Given the description of an element on the screen output the (x, y) to click on. 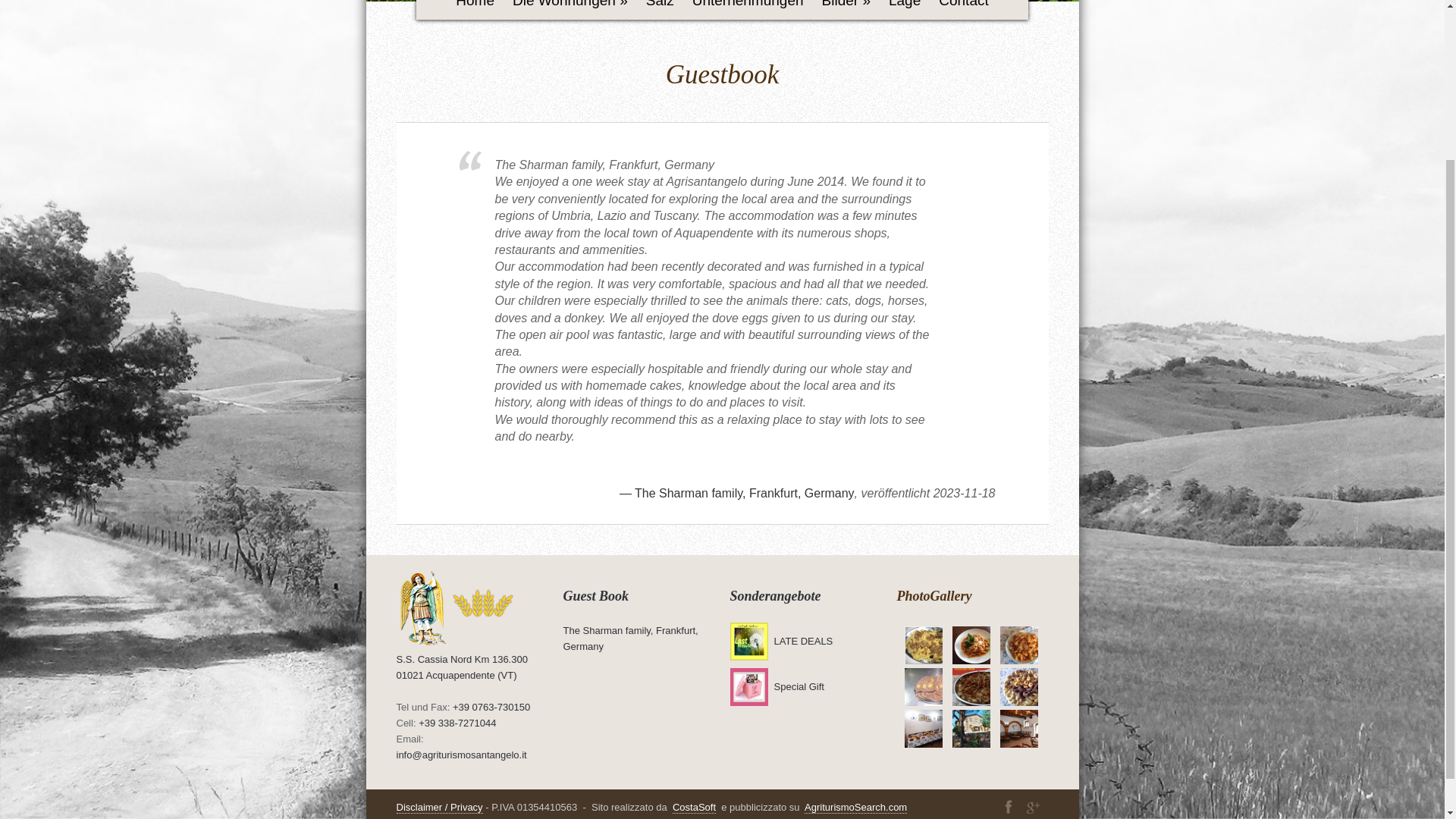
The Sharman family, Frankfurt, Germany (629, 637)
Home (474, 10)
Guest Book (595, 595)
LATE DEALS (802, 641)
Contact (963, 10)
Special Gift (798, 686)
Unternehmungen (747, 10)
Salz (659, 10)
Sonderangebote (775, 595)
Lage (904, 10)
